Given the description of an element on the screen output the (x, y) to click on. 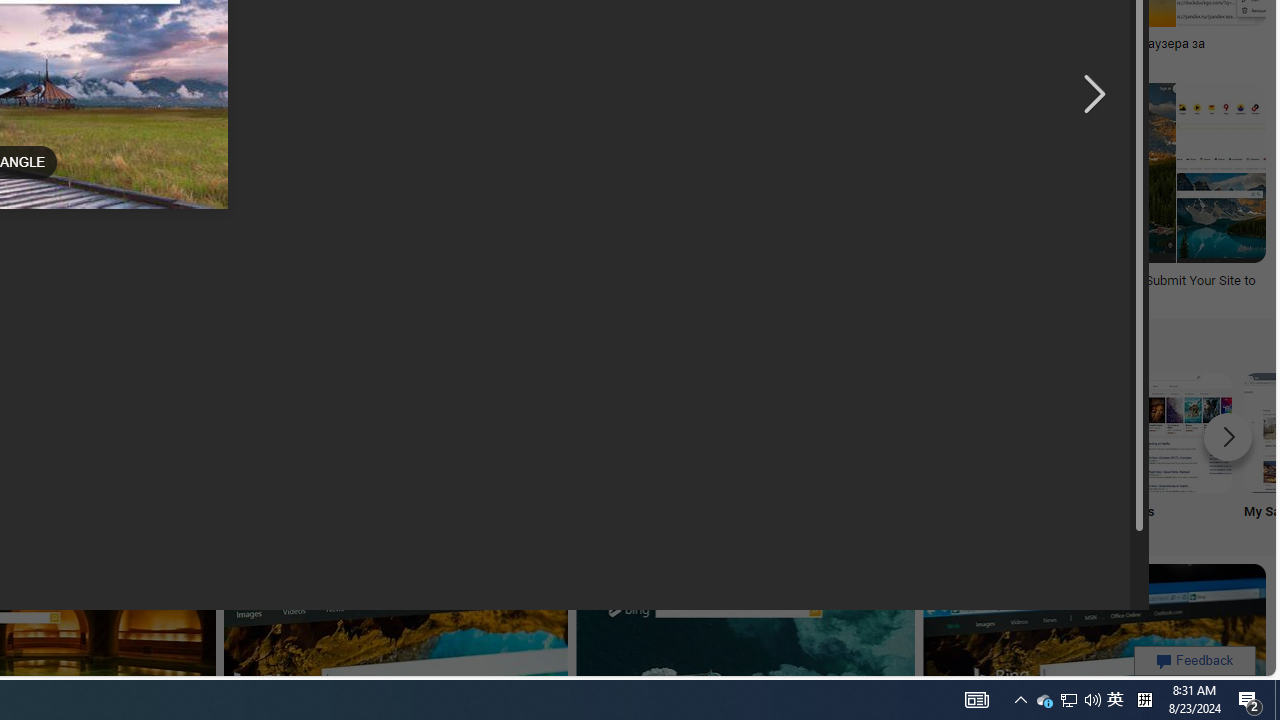
New Bing Image Search New (775, 450)
Bing Intelligent Search (643, 432)
Bing Search Settings (907, 432)
Web Searching | Computer Applications for Managers (216, 287)
Intelligent (643, 450)
Bing Search App (511, 432)
Image result for Bing Search Site (717, 172)
Bing Search Bar Install (380, 432)
Feedback (1194, 660)
Bing the Search Engine (248, 432)
Bing the Search Engine Engine (248, 450)
